Given the description of an element on the screen output the (x, y) to click on. 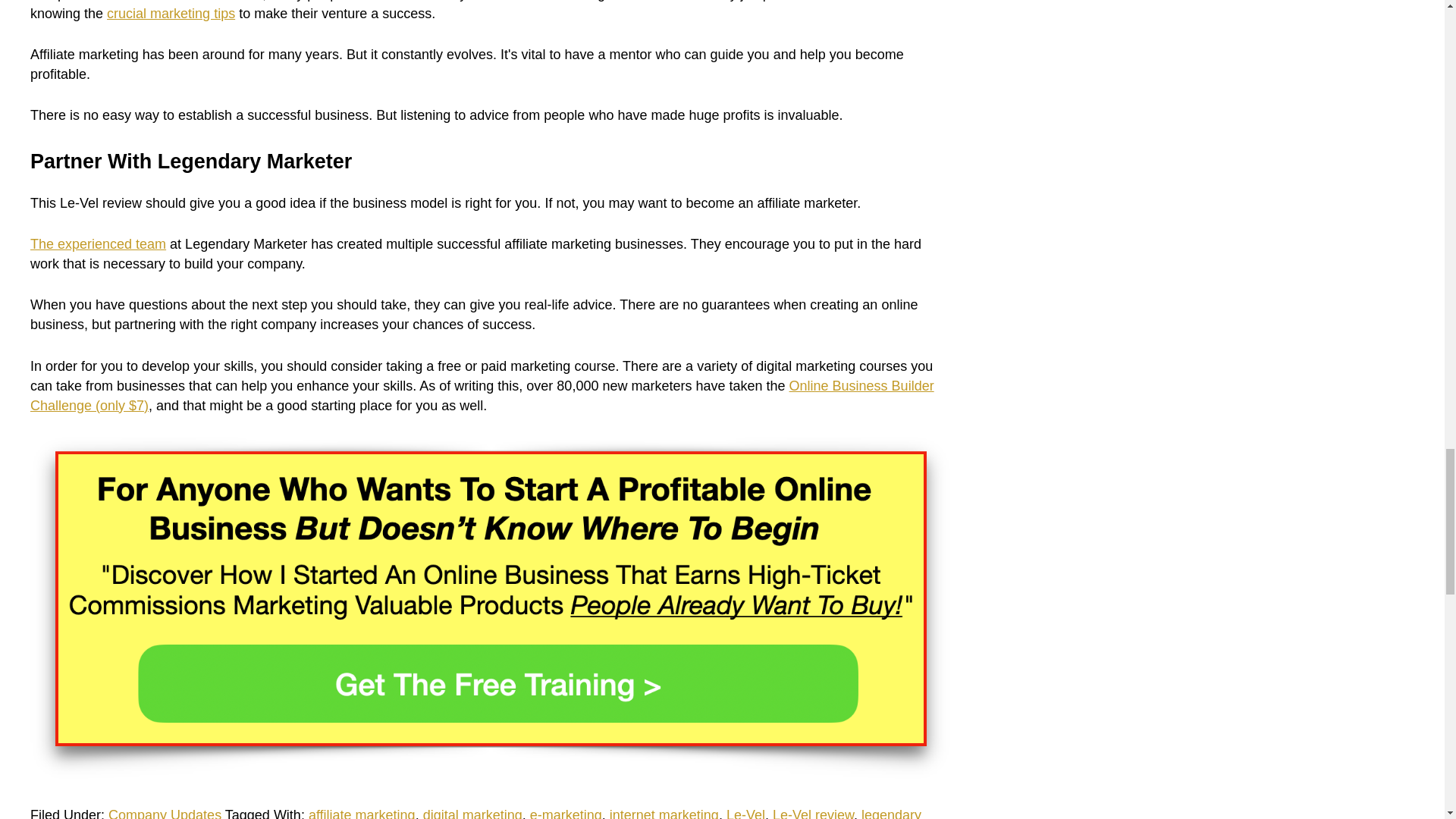
digital marketing (472, 813)
legendary marketer (475, 813)
Le-Vel (745, 813)
crucial marketing tips (170, 13)
The experienced team (97, 243)
e-marketing (565, 813)
affiliate marketing (361, 813)
Le-Vel review (813, 813)
Company Updates (164, 813)
internet marketing (664, 813)
